Given the description of an element on the screen output the (x, y) to click on. 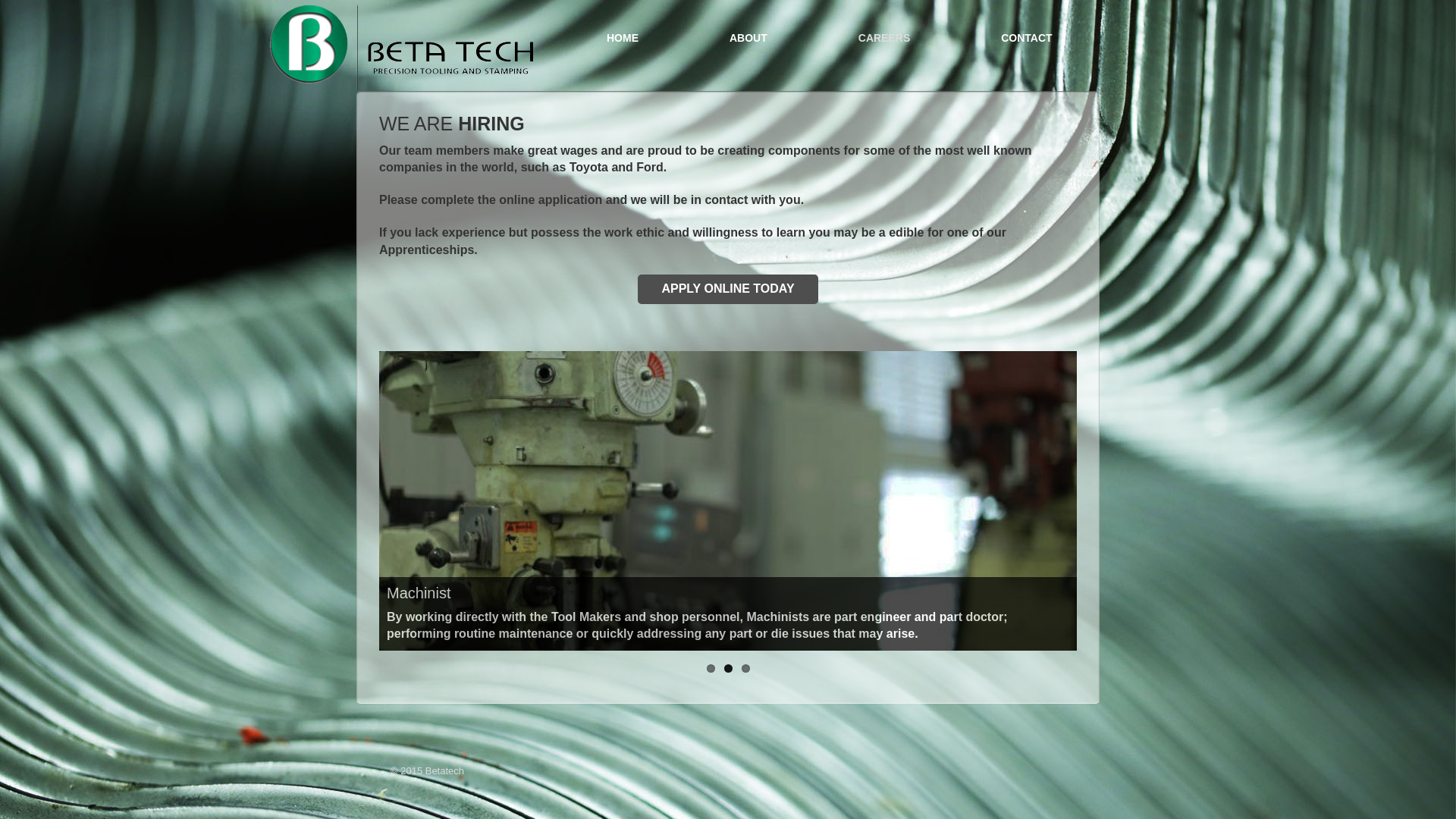
ABOUT Element type: text (748, 37)
1 Element type: text (710, 668)
HOME Element type: text (622, 37)
CAREERS Element type: text (884, 37)
2 Element type: text (727, 668)
3 Element type: text (745, 668)
CONTACT Element type: text (1026, 37)
APPLY ONLINE TODAY Element type: text (727, 289)
